Given the description of an element on the screen output the (x, y) to click on. 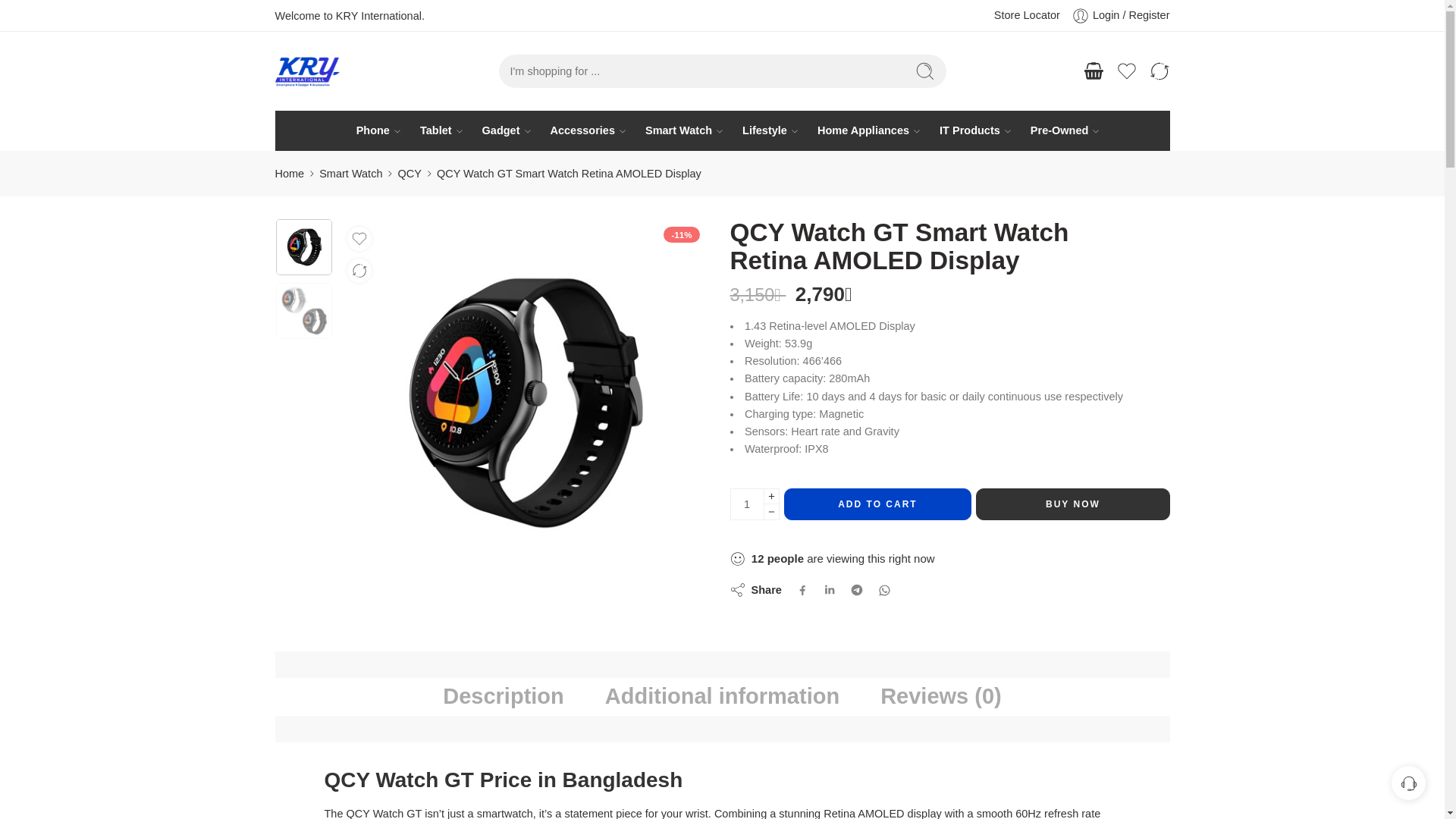
Store Locator (1026, 15)
Gadget (500, 130)
Compare (1158, 70)
Cart (1093, 70)
1 (745, 504)
Additional information (722, 696)
Wishlist (1126, 70)
Description (503, 696)
Store Locator (1026, 15)
